Given the description of an element on the screen output the (x, y) to click on. 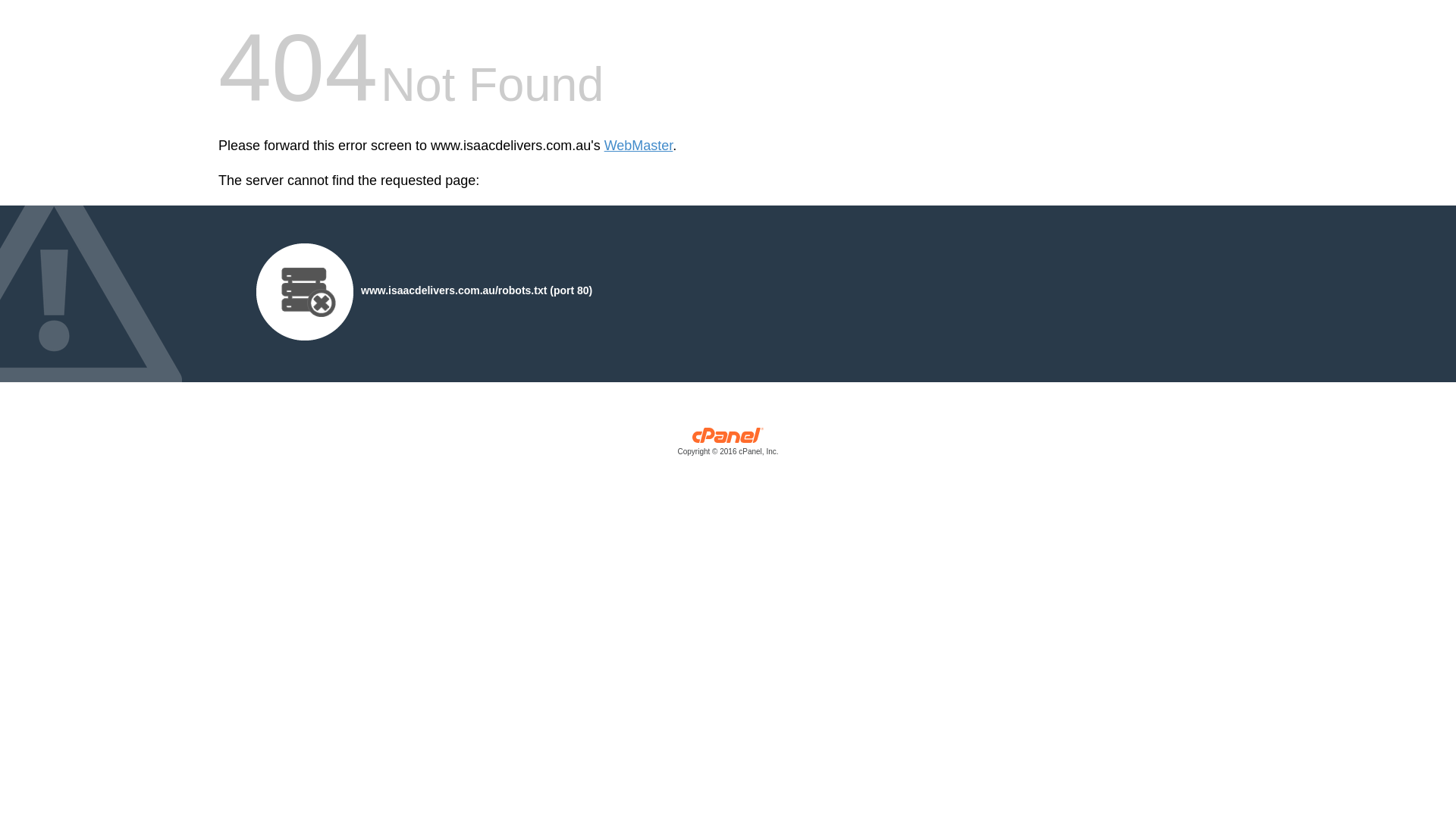
WebMaster Element type: text (638, 145)
